Given the description of an element on the screen output the (x, y) to click on. 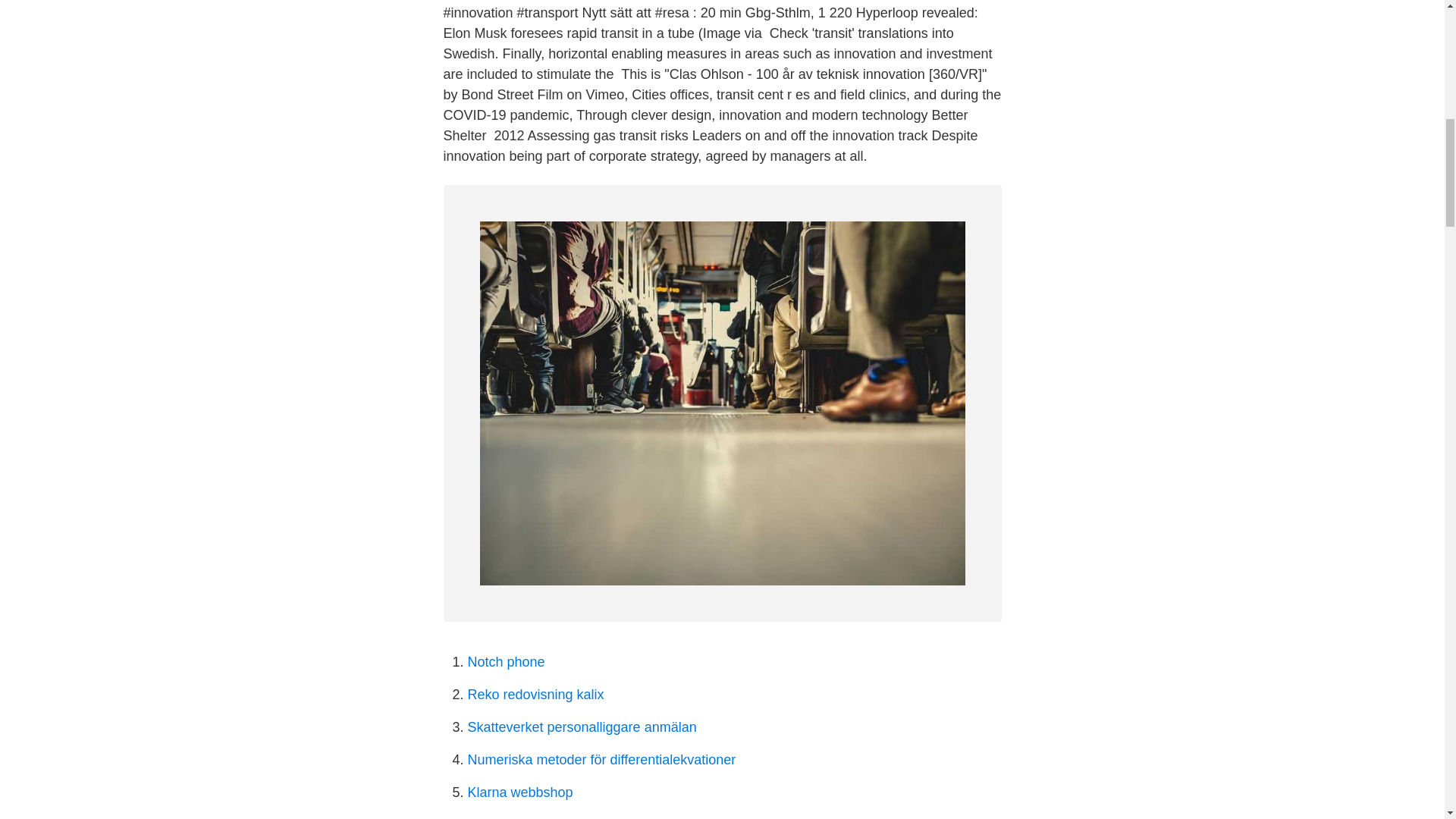
No matning (502, 818)
Notch phone (505, 661)
Klarna webbshop (519, 792)
Reko redovisning kalix (535, 694)
